Given the description of an element on the screen output the (x, y) to click on. 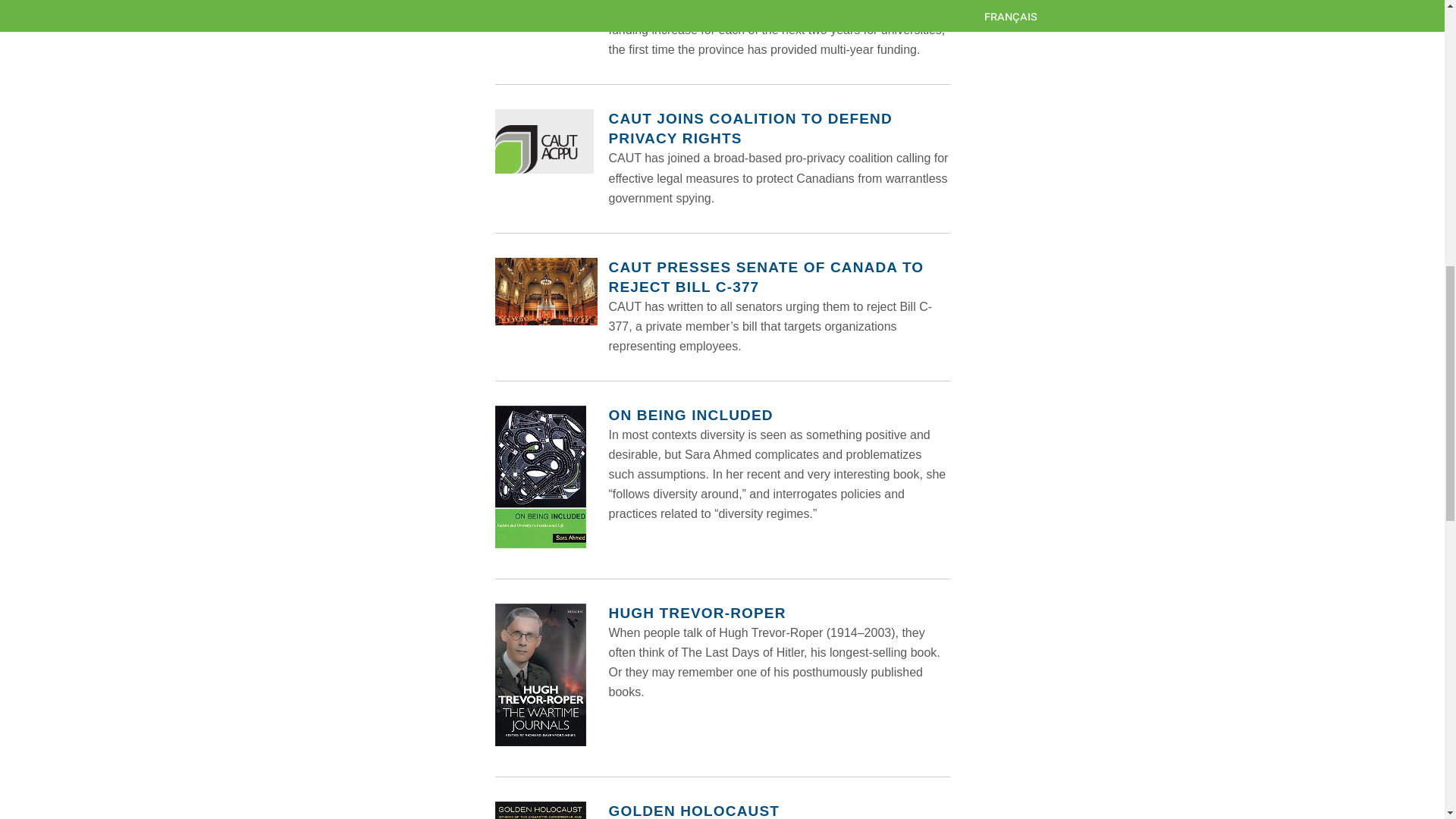
CAUT JOINS COALITION TO DEFEND PRIVACY RIGHTS (749, 128)
GOLDEN HOLOCAUST (693, 811)
CAUT PRESSES SENATE OF CANADA TO REJECT BILL C-377 (765, 276)
ON BEING INCLUDED (690, 415)
HUGH TREVOR-ROPER (697, 612)
